Given the description of an element on the screen output the (x, y) to click on. 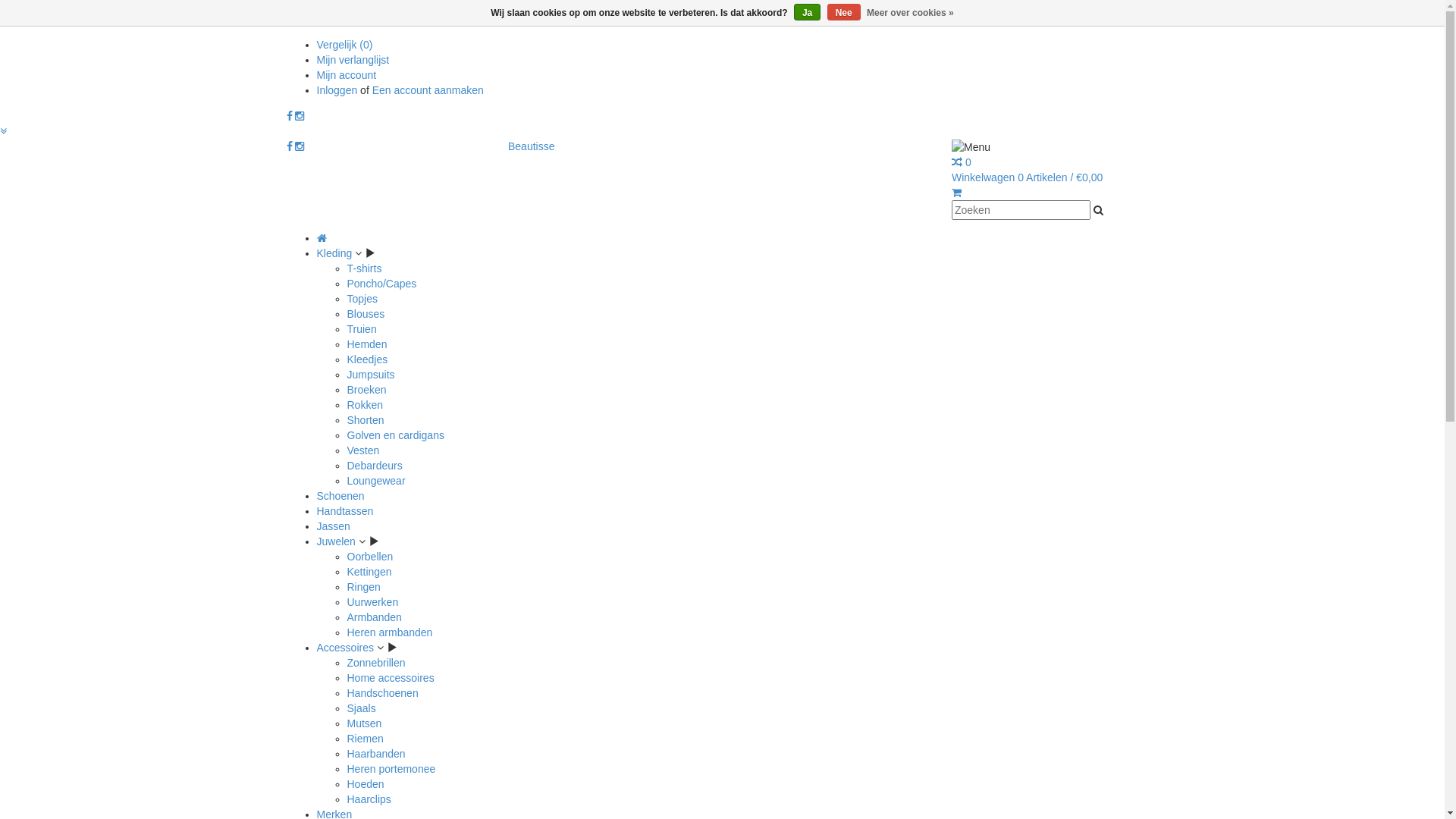
Mijn verlanglijst Element type: text (352, 59)
Instagram Beautisse Element type: hover (299, 146)
Heren armbanden Element type: text (390, 632)
Sjaals Element type: text (361, 708)
Home accessoires Element type: text (390, 677)
Armbanden Element type: text (374, 617)
Kleding Element type: text (334, 253)
Kleedjes Element type: text (367, 359)
Debardeurs Element type: text (374, 465)
Zoeken Element type: hover (1098, 209)
Kettingen Element type: text (369, 571)
Zonnebrillen Element type: text (376, 662)
Schoenen Element type: text (340, 495)
Hoeden Element type: text (365, 784)
Handschoenen Element type: text (382, 693)
Facebook Beautisse Element type: hover (289, 146)
Ja Element type: text (806, 11)
Juwelen Element type: text (335, 541)
Oorbellen Element type: text (370, 556)
Vergelijk (0) Element type: text (344, 44)
Heren portemonee Element type: text (391, 768)
Broeken Element type: text (366, 389)
Jassen Element type: text (333, 526)
Golven en cardigans Element type: text (395, 435)
Een account aanmaken Element type: text (427, 90)
T-shirts Element type: text (364, 268)
Poncho/Capes Element type: text (382, 283)
Ringen Element type: text (363, 586)
Inloggen Element type: text (338, 90)
Facebook Beautisse Element type: hover (289, 115)
Rokken Element type: text (364, 404)
Accessoires Element type: text (344, 647)
Topjes Element type: text (362, 298)
Vesten Element type: text (363, 450)
Mutsen Element type: text (364, 723)
Handtassen Element type: text (344, 511)
Hemden Element type: text (367, 344)
Instagram Beautisse Element type: hover (299, 115)
Home Element type: hover (321, 238)
Beautisse Element type: text (531, 146)
0 Element type: text (961, 162)
Blouses Element type: text (366, 313)
Mijn account Element type: text (346, 75)
Loungewear Element type: text (376, 480)
Nee Element type: text (843, 11)
Haarclips Element type: text (369, 799)
Uurwerken Element type: text (372, 602)
Truien Element type: text (361, 329)
Shorten Element type: text (365, 420)
Jumpsuits Element type: text (371, 374)
Riemen Element type: text (365, 738)
Haarbanden Element type: text (376, 753)
